Given the description of an element on the screen output the (x, y) to click on. 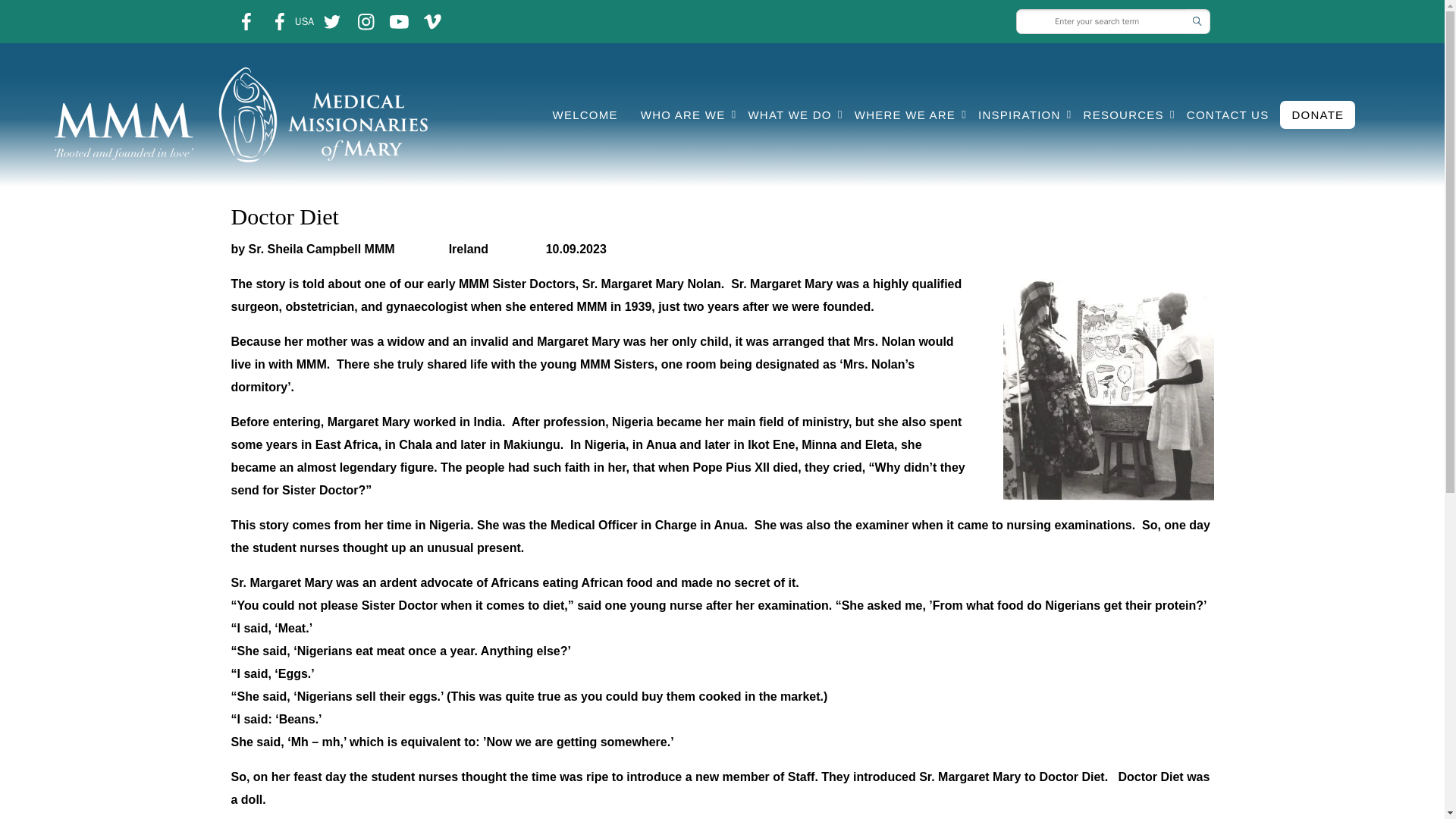
fb (280, 21)
WELCOME (584, 114)
ins (366, 21)
Search for: (1101, 21)
tw (332, 21)
ins (432, 21)
WHAT WE DO (789, 114)
fb (245, 21)
WHERE WE ARE (904, 114)
WHO ARE WE (682, 114)
